Given the description of an element on the screen output the (x, y) to click on. 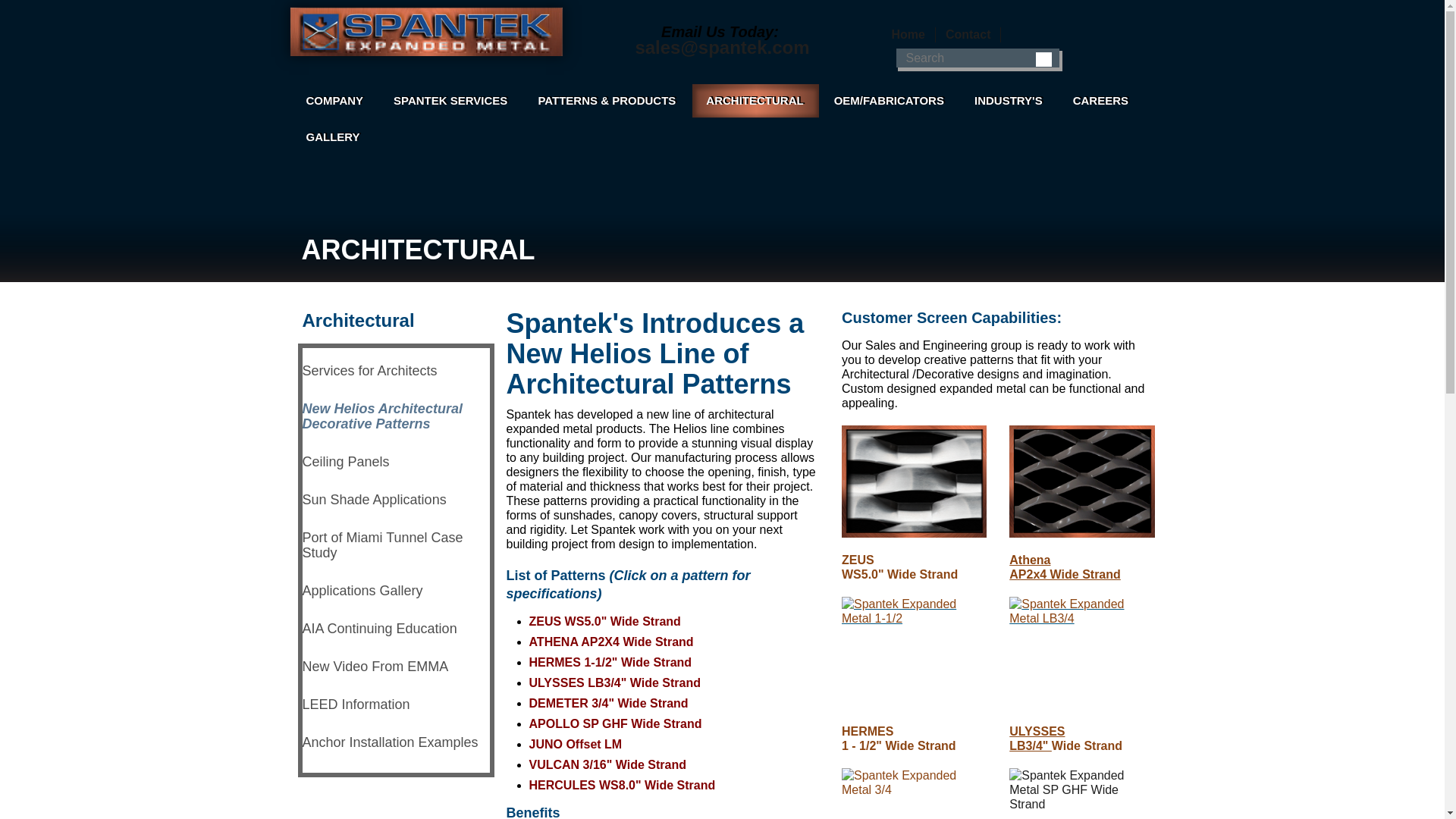
Applications Gallery (395, 590)
ATHENA AP2X4 Wide Strand (611, 641)
New Video From EMMA (395, 666)
New Helios Architectural Decorative Patterns (395, 416)
JUNO Offset LM (576, 744)
Contact (968, 34)
Services for Architects (395, 370)
INDUSTRY'S (1008, 100)
Sun Shade Applications (395, 499)
HERCULES WS8.0" Wide Strand (622, 784)
